Given the description of an element on the screen output the (x, y) to click on. 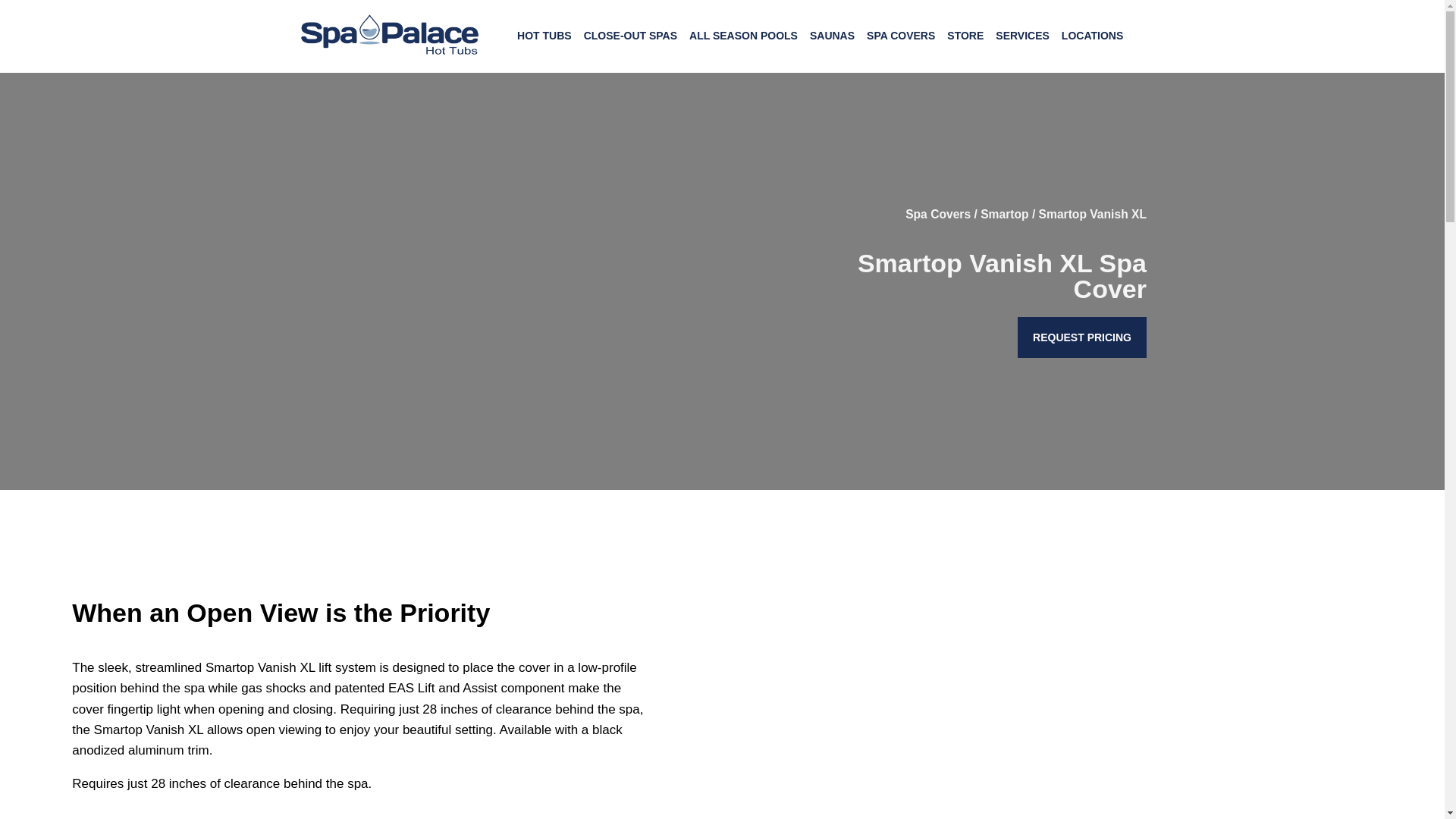
LOCATIONS (1092, 35)
STORE (965, 35)
SPA COVERS (900, 35)
SAUNAS (831, 35)
SERVICES (1022, 35)
ALL SEASON POOLS (742, 35)
CLOSE-OUT SPAS (630, 35)
HOT TUBS (544, 35)
